Given the description of an element on the screen output the (x, y) to click on. 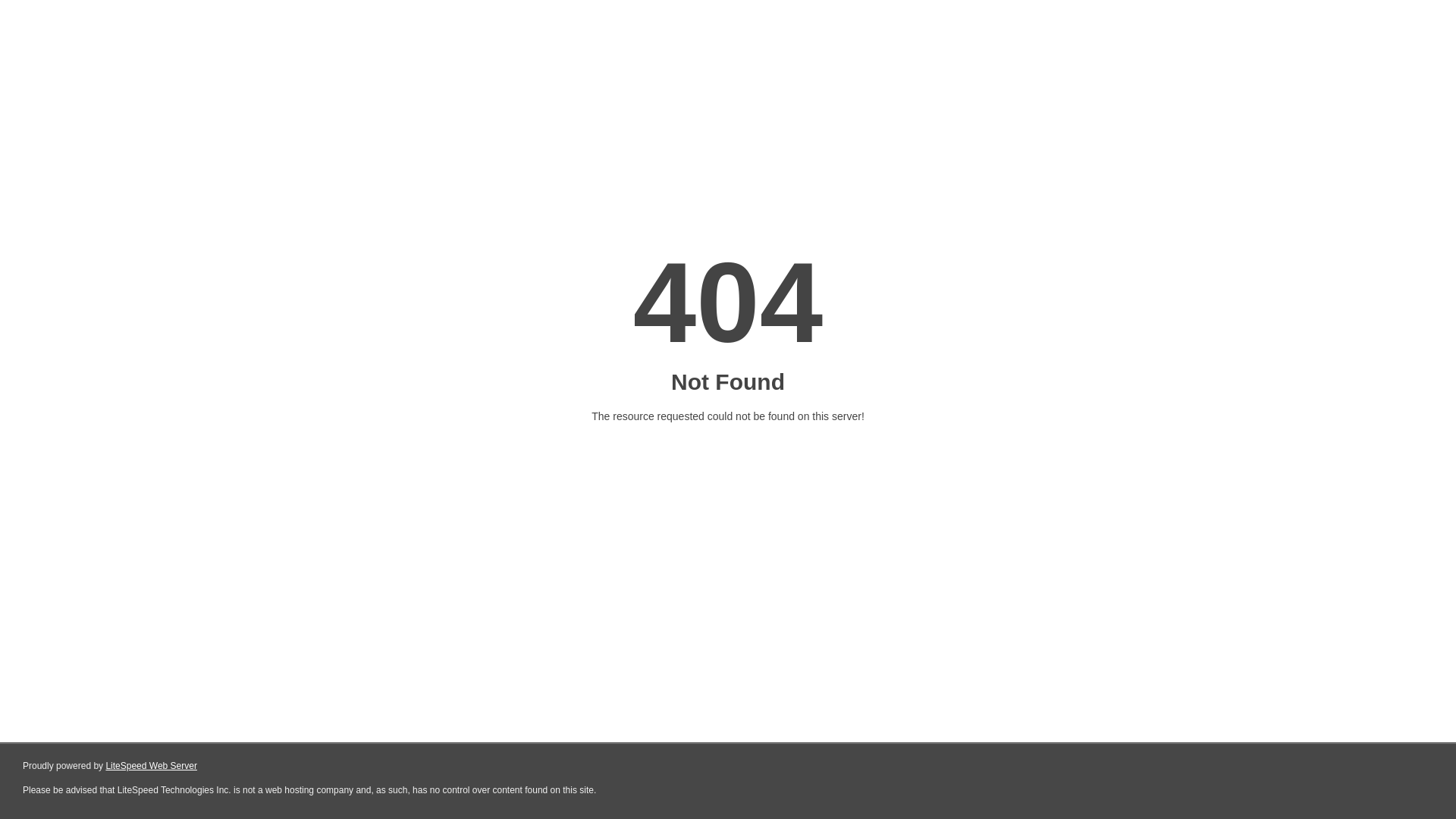
LiteSpeed Web Server Element type: text (151, 765)
